Given the description of an element on the screen output the (x, y) to click on. 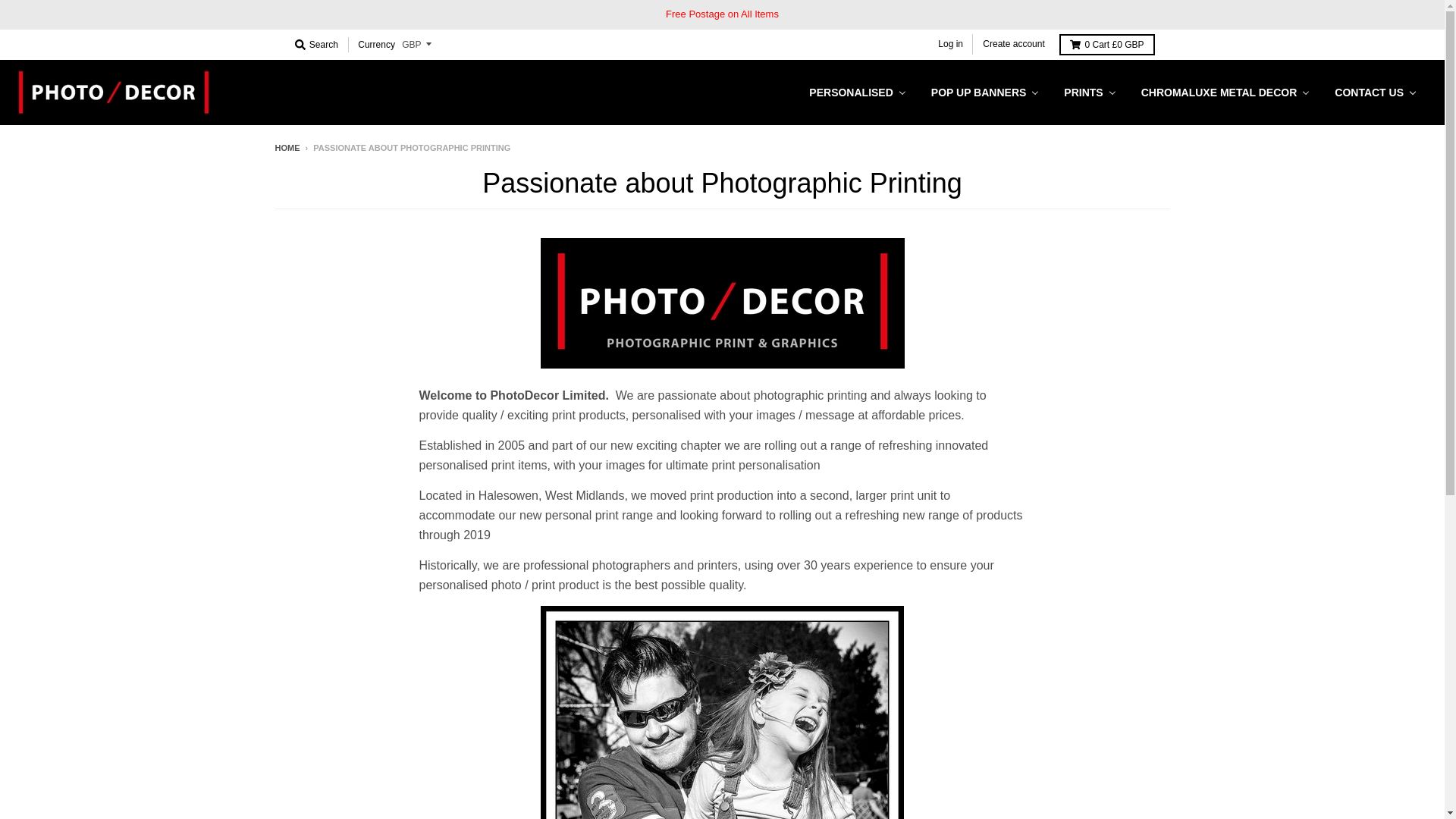
PERSONALISED (857, 91)
Create account (1013, 44)
Log in (950, 44)
Search (315, 44)
